Given the description of an element on the screen output the (x, y) to click on. 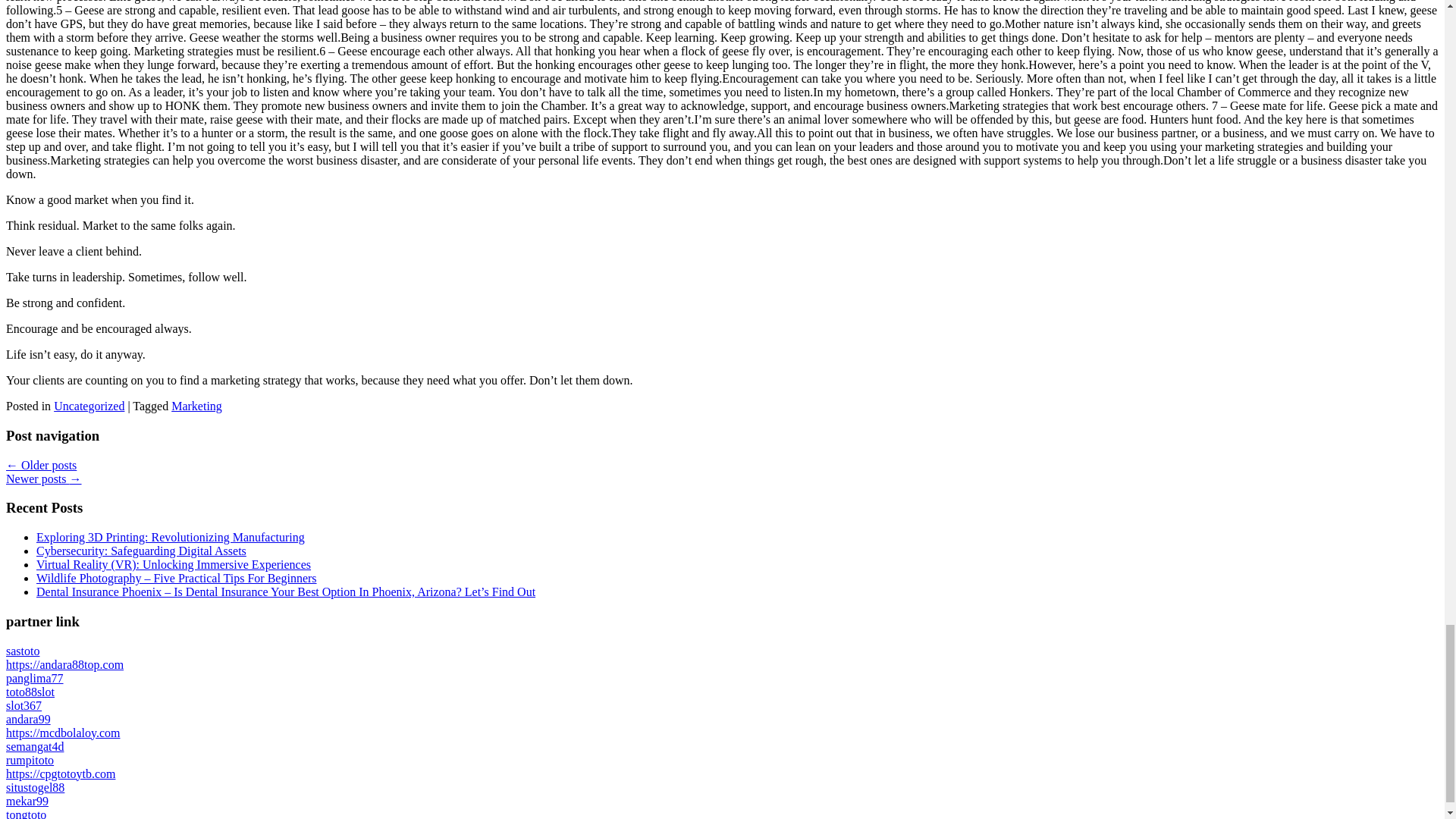
Cybersecurity: Safeguarding Digital Assets (141, 550)
Exploring 3D Printing: Revolutionizing Manufacturing (170, 536)
View all posts in Uncategorized (88, 405)
